Given the description of an element on the screen output the (x, y) to click on. 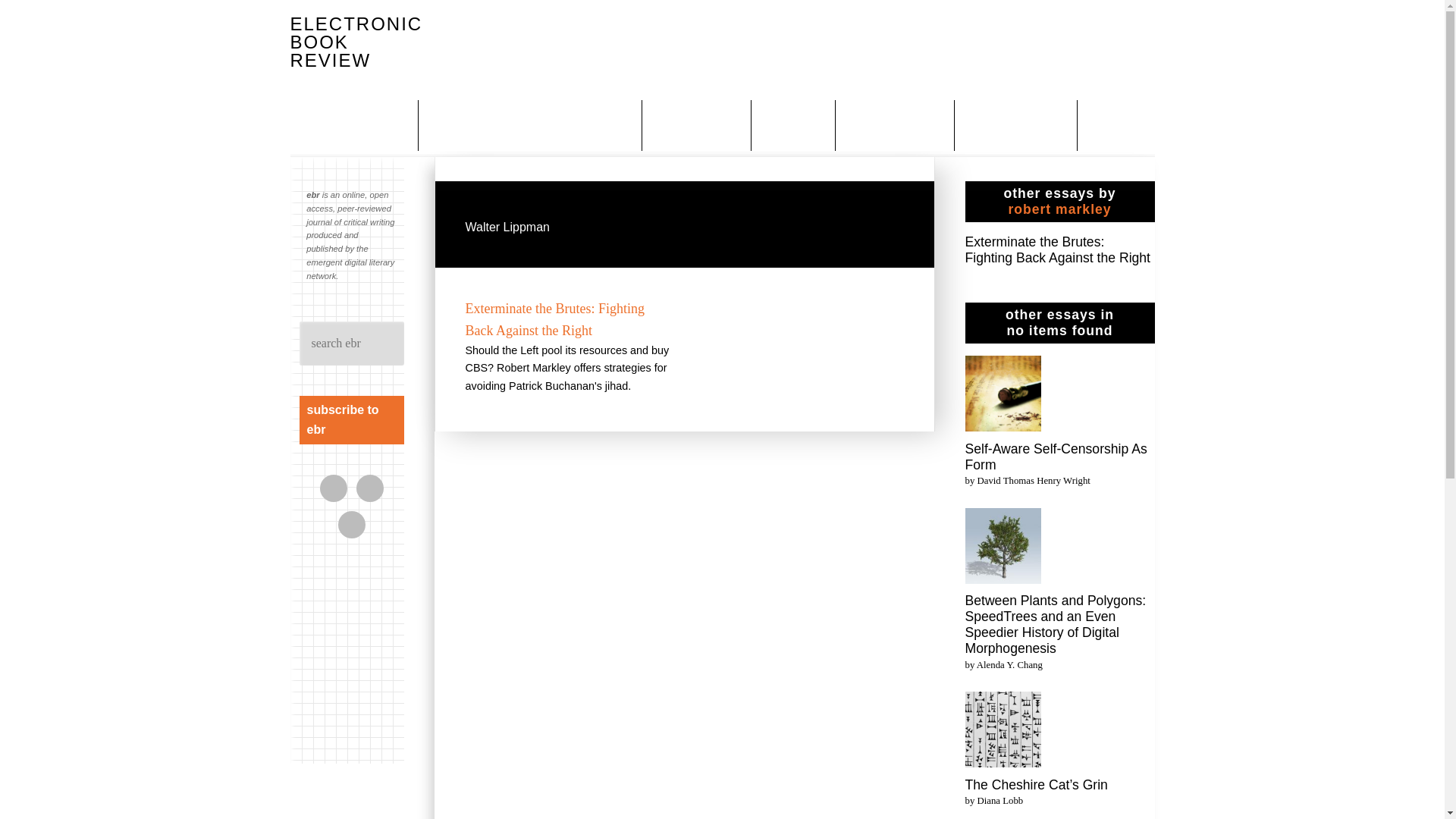
POLICIES AND SUBMISSIONS (532, 124)
ESSAYS (794, 124)
robert markley (1058, 209)
Self-Aware Self-Censorship As Form (1002, 395)
NEWSLETTER (1017, 124)
ELECTRONIC BOOK REVIEW (355, 41)
